Given the description of an element on the screen output the (x, y) to click on. 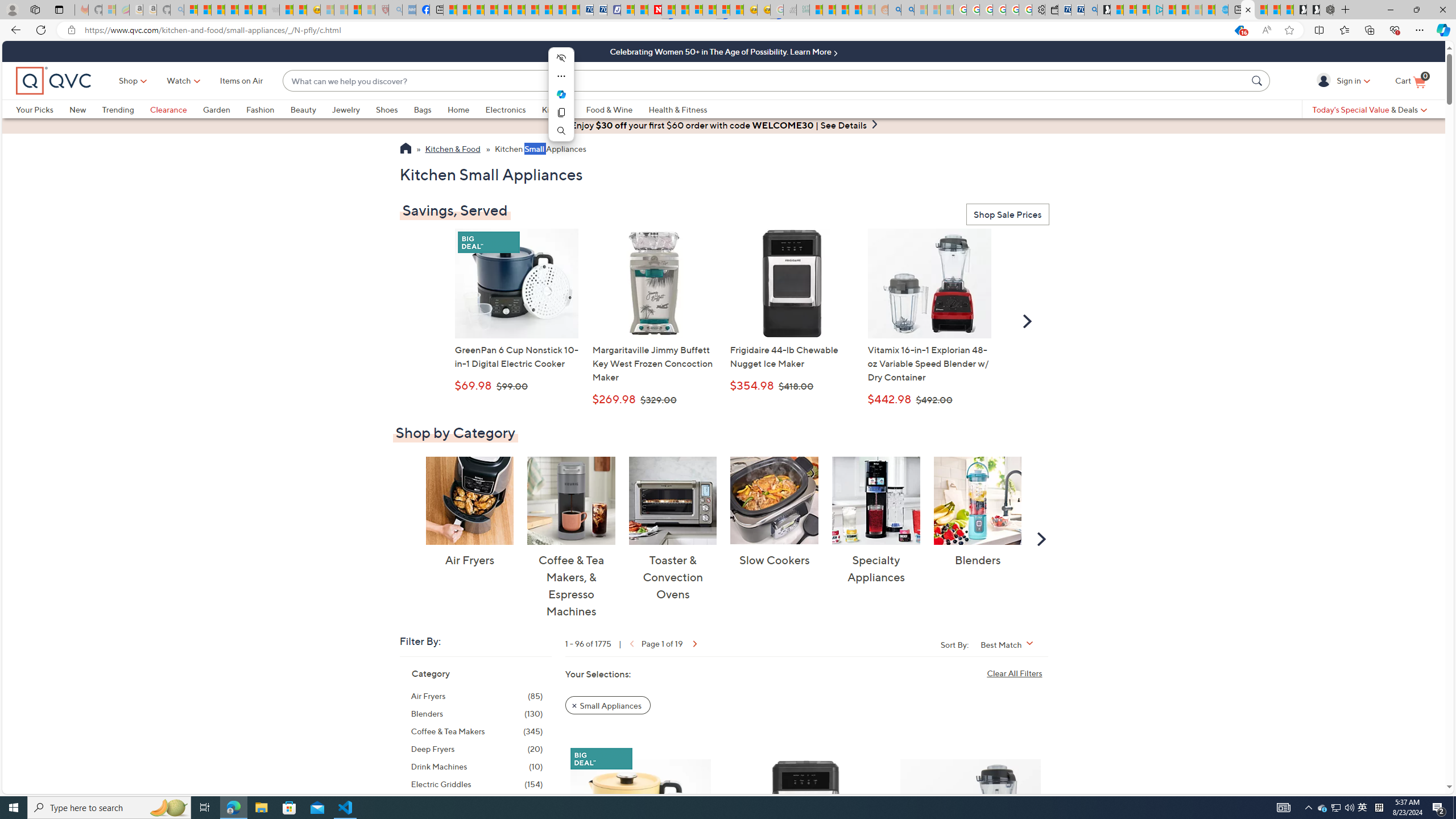
Electronics (512, 109)
Utah sues federal government - Search (907, 9)
Specialty Appliances Specialty Appliances (875, 520)
Beauty (310, 109)
Previous Page (630, 643)
Remove Filter: Small Appliances (607, 705)
Kitchen Small Appliances (539, 149)
